Given the description of an element on the screen output the (x, y) to click on. 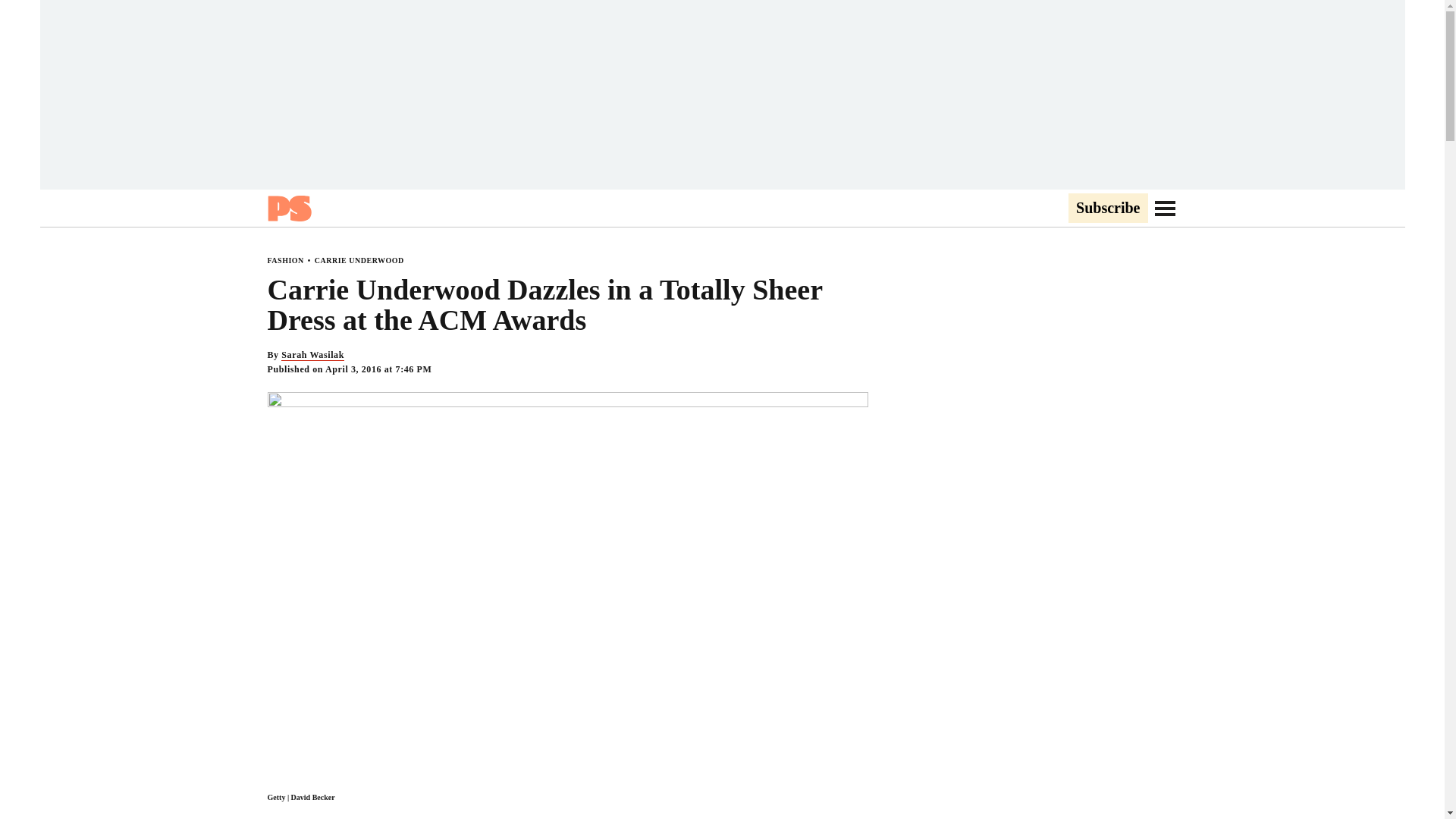
FASHION (284, 260)
Sarah Wasilak (312, 355)
CARRIE UNDERWOOD (359, 260)
Subscribe (1107, 208)
Go to Navigation (1164, 207)
Go to Navigation (1164, 207)
Popsugar (288, 208)
